Given the description of an element on the screen output the (x, y) to click on. 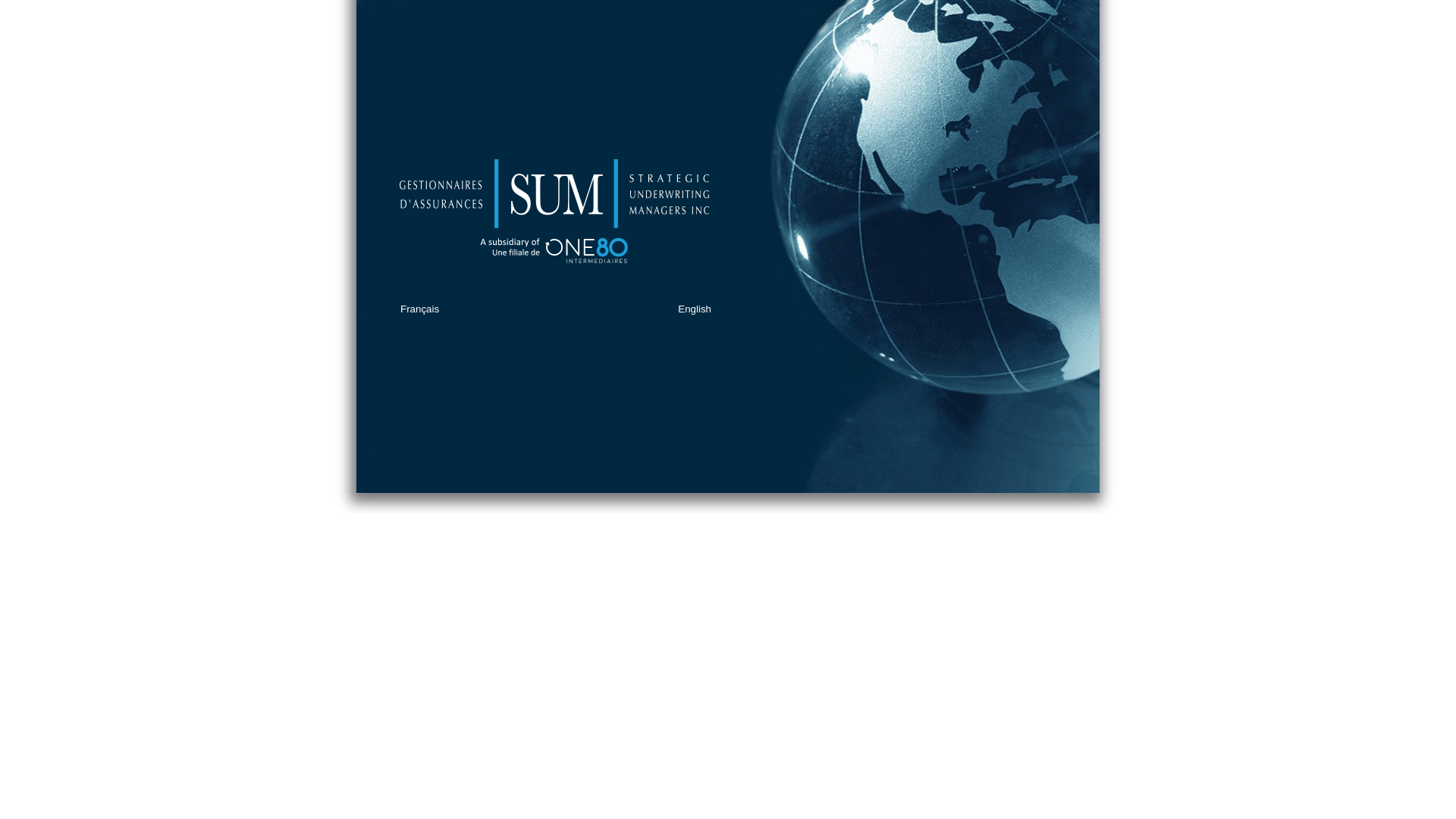
English Element type: text (694, 308)
